Given the description of an element on the screen output the (x, y) to click on. 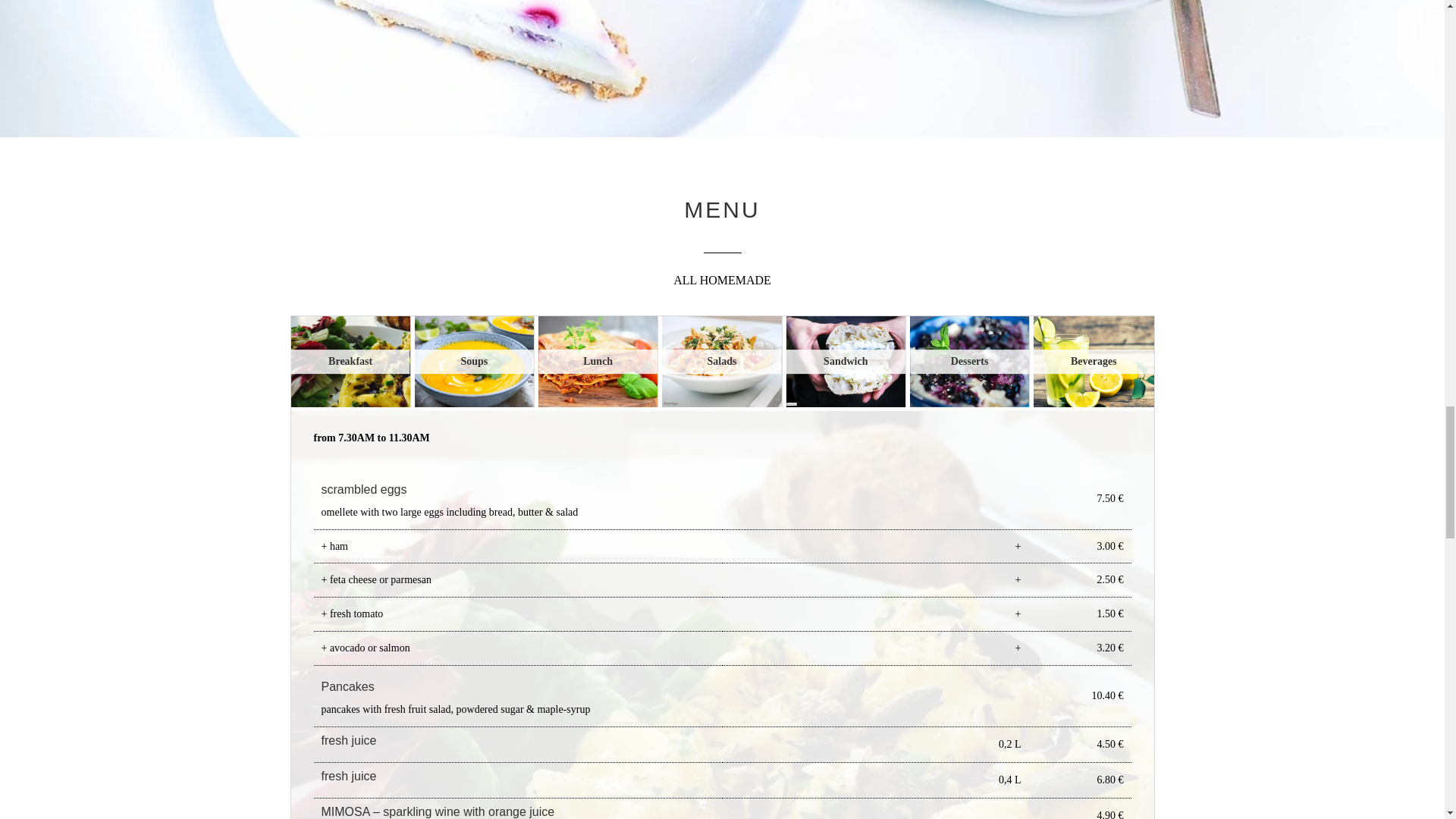
Desserts (969, 361)
Lunch (598, 361)
Sandwich (845, 361)
Salads (721, 361)
Soups (474, 361)
Beverages (1093, 361)
Breakfast (350, 361)
